Given the description of an element on the screen output the (x, y) to click on. 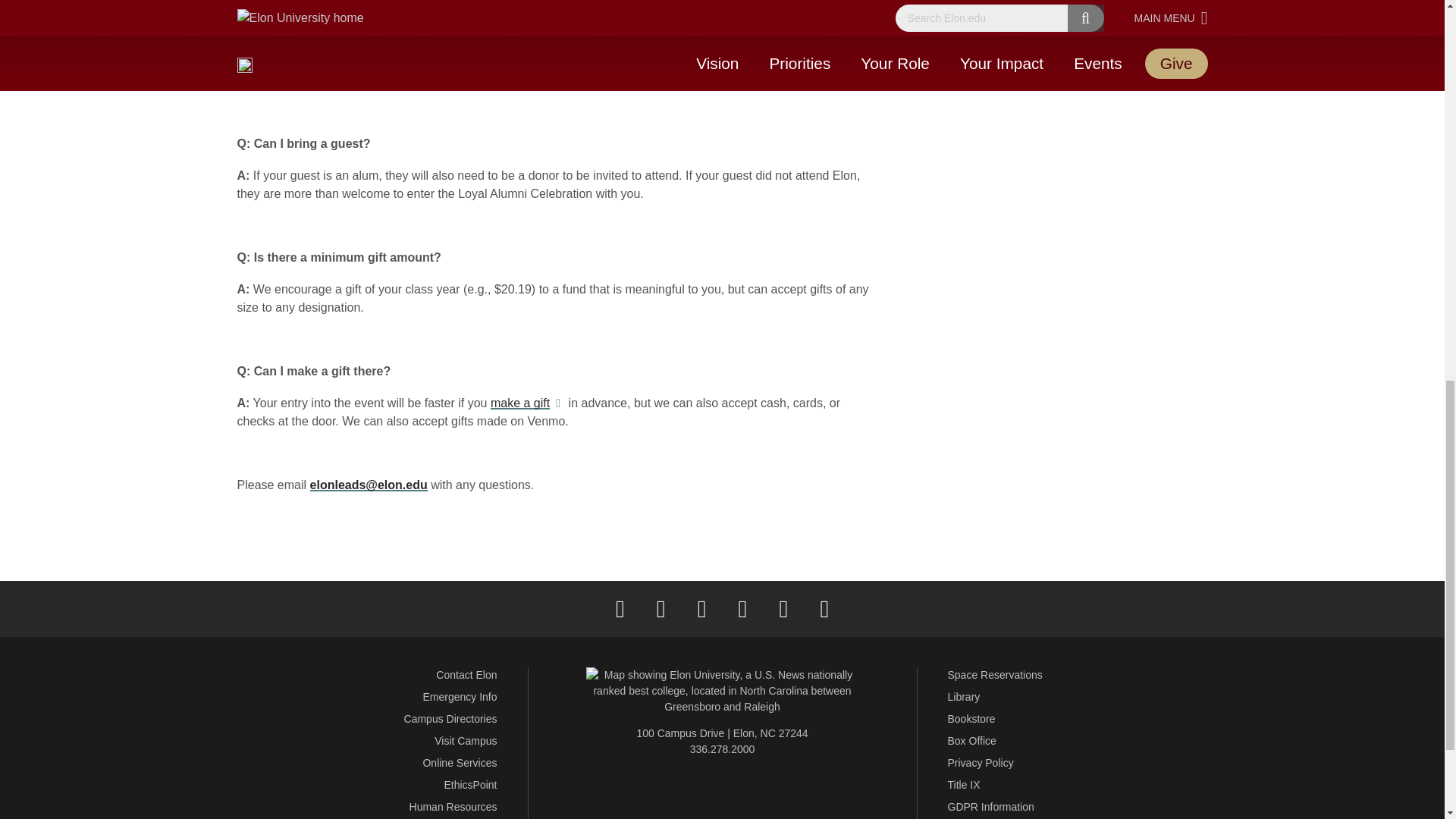
LinkedIn (742, 608)
Full Social Media List (824, 608)
Facebook (620, 608)
Instagram (701, 608)
YouTube (783, 608)
